Given the description of an element on the screen output the (x, y) to click on. 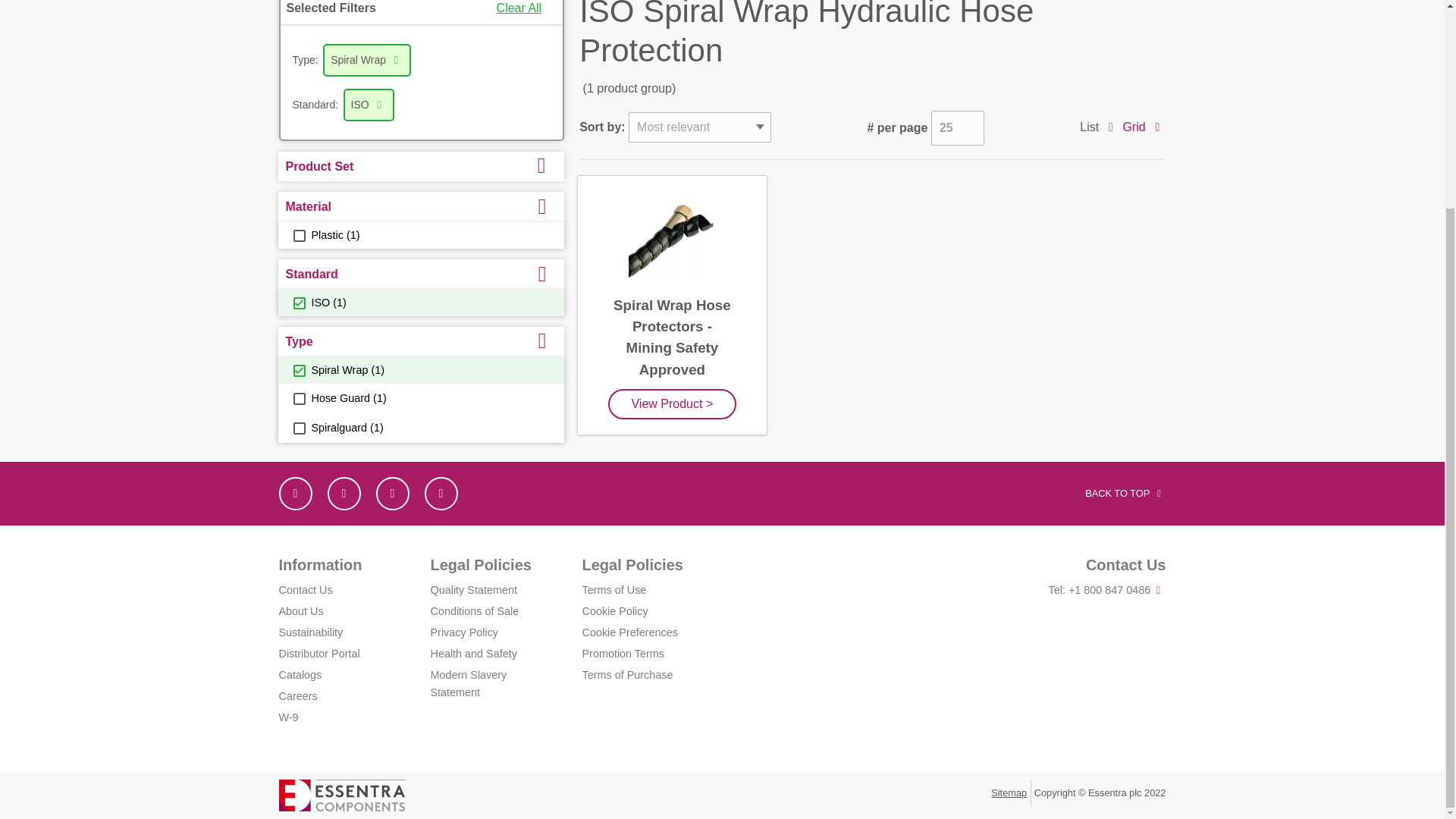
Hose Guard (298, 398)
Spiralguard (298, 428)
ISO (298, 303)
Spiral Wrap (298, 370)
Plastic (298, 235)
